Given the description of an element on the screen output the (x, y) to click on. 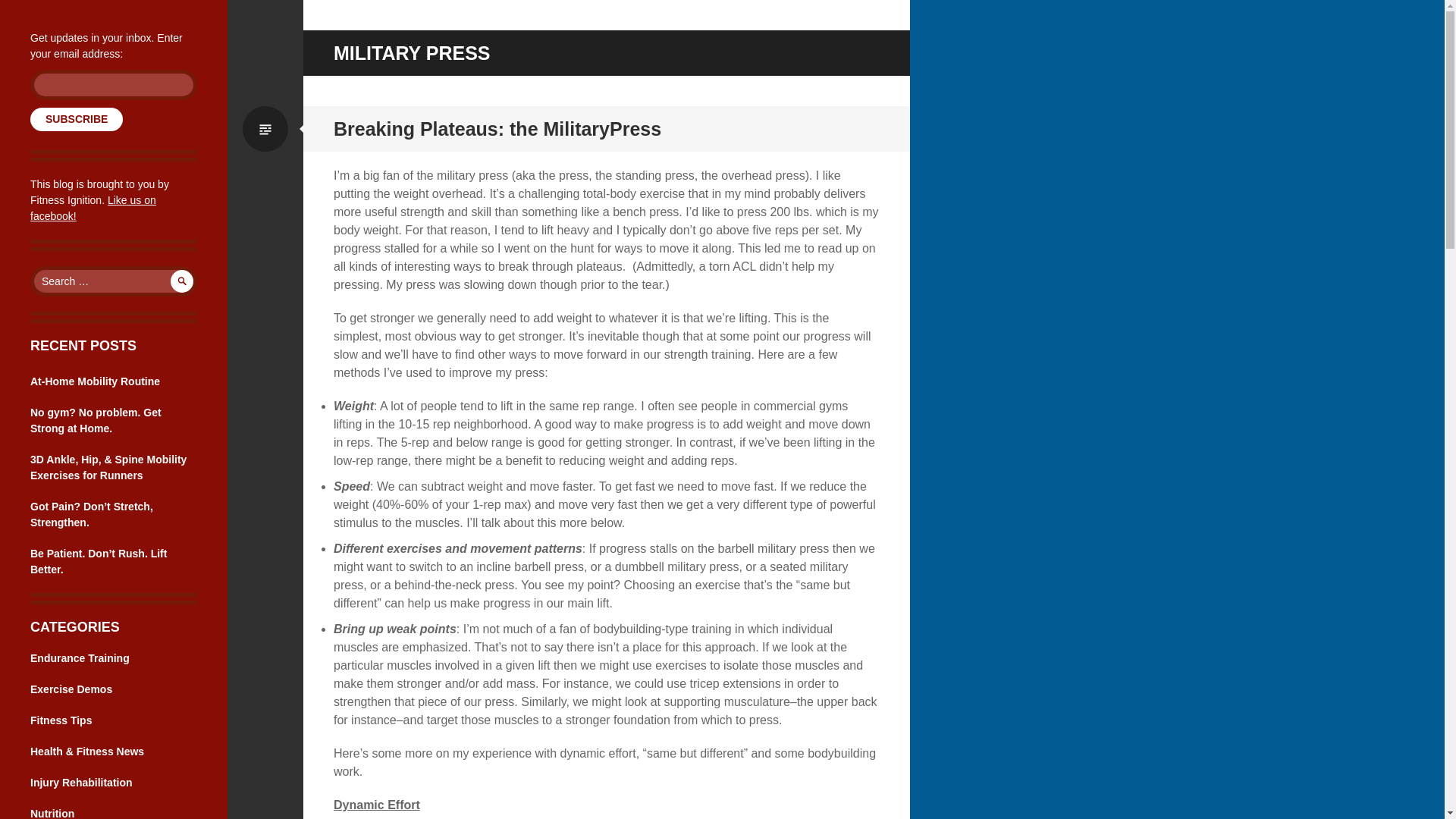
Nutrition (52, 813)
Like us on facebook! (92, 207)
Fitness Tips (60, 720)
Exercise Demos (71, 689)
Subscribe (76, 119)
Search for: (113, 281)
No gym? No problem. Get Strong at Home. (95, 420)
Injury Rehabilitation (81, 782)
At-Home Mobility Routine (95, 381)
Subscribe (76, 119)
Endurance Training (79, 657)
Breaking Plateaus: the MilitaryPress (497, 128)
